Given the description of an element on the screen output the (x, y) to click on. 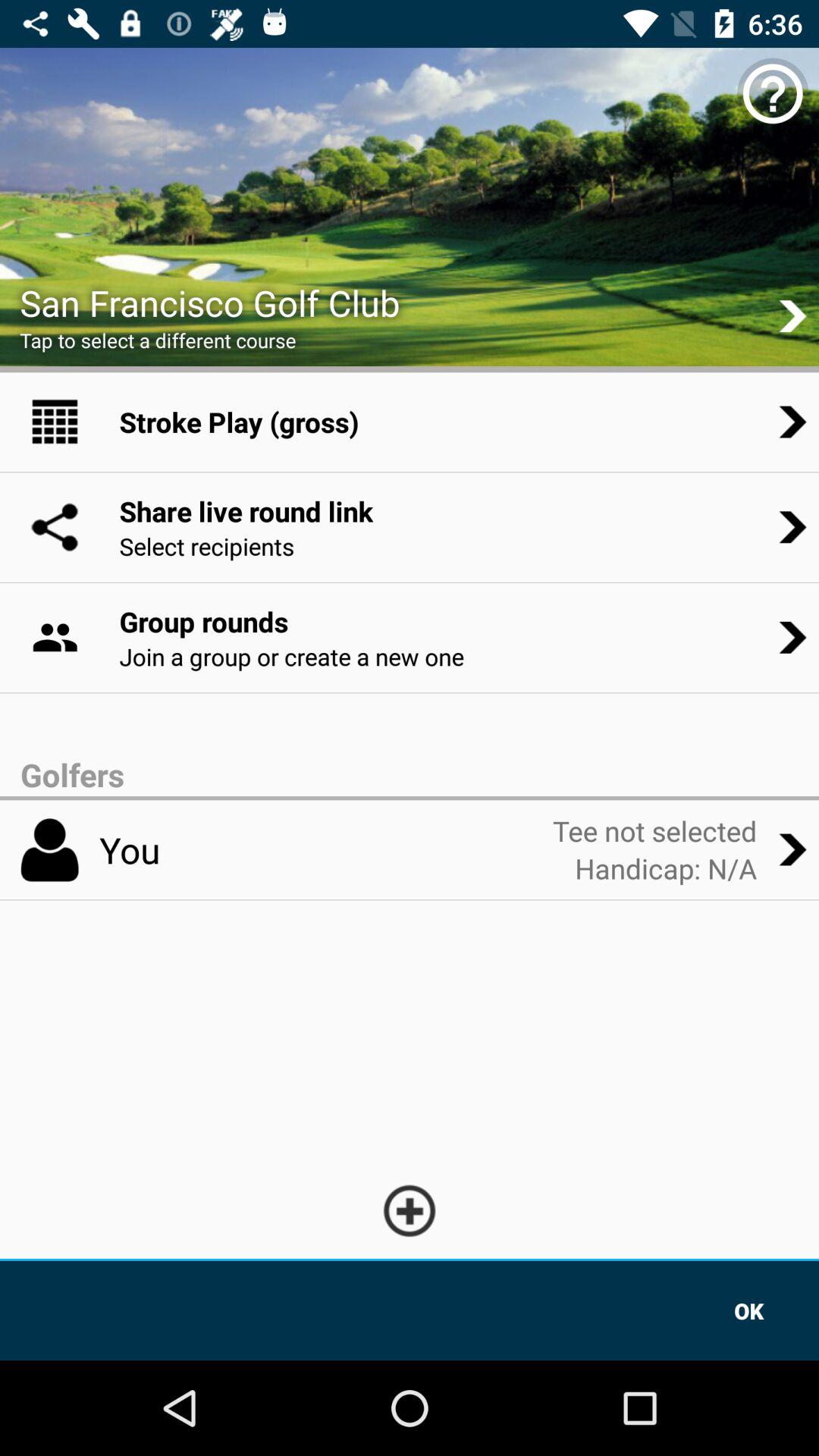
add your quary (409, 1210)
